Given the description of an element on the screen output the (x, y) to click on. 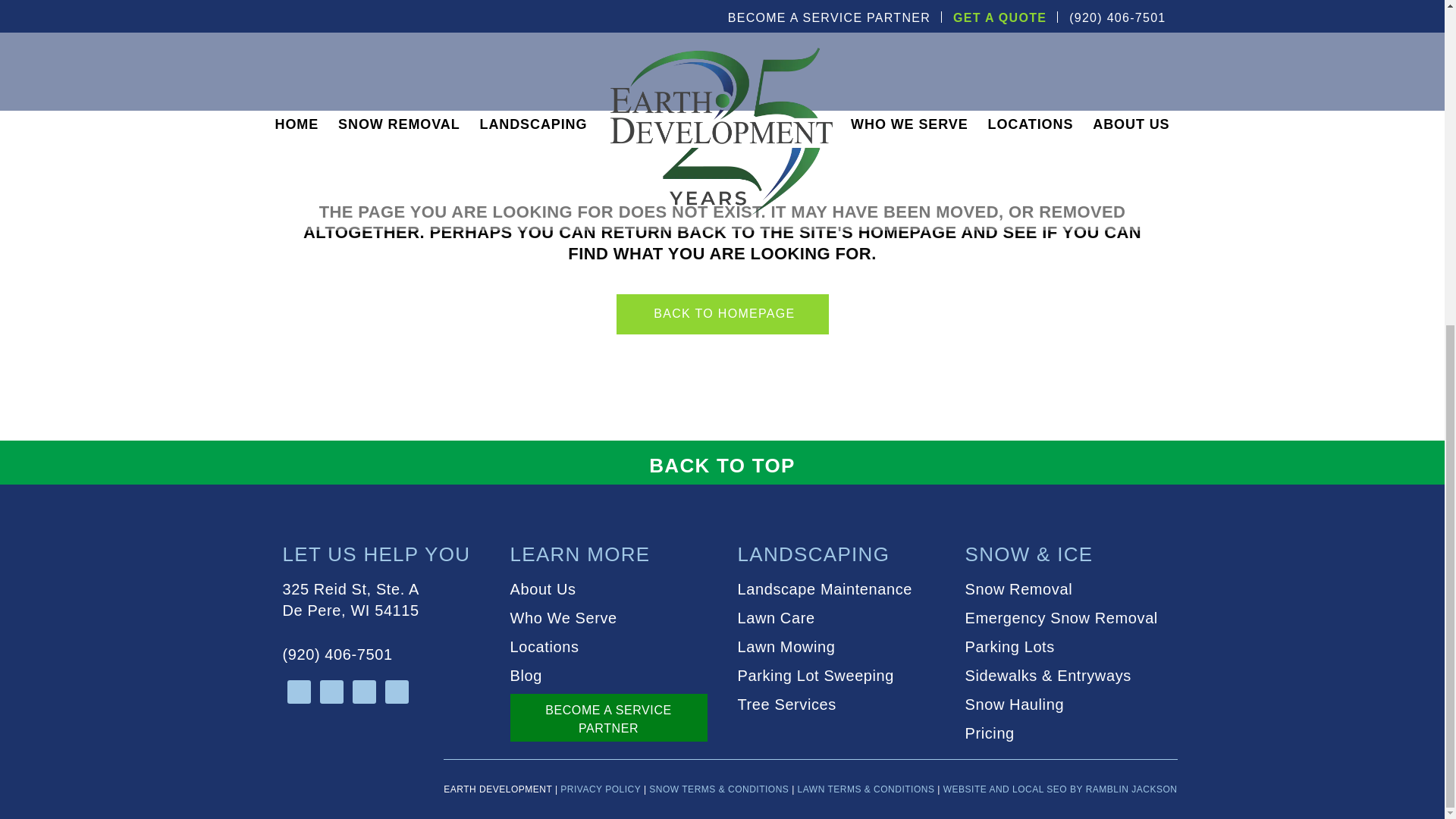
BACK TO HOMEPAGE (721, 314)
About Us (350, 599)
